Given the description of an element on the screen output the (x, y) to click on. 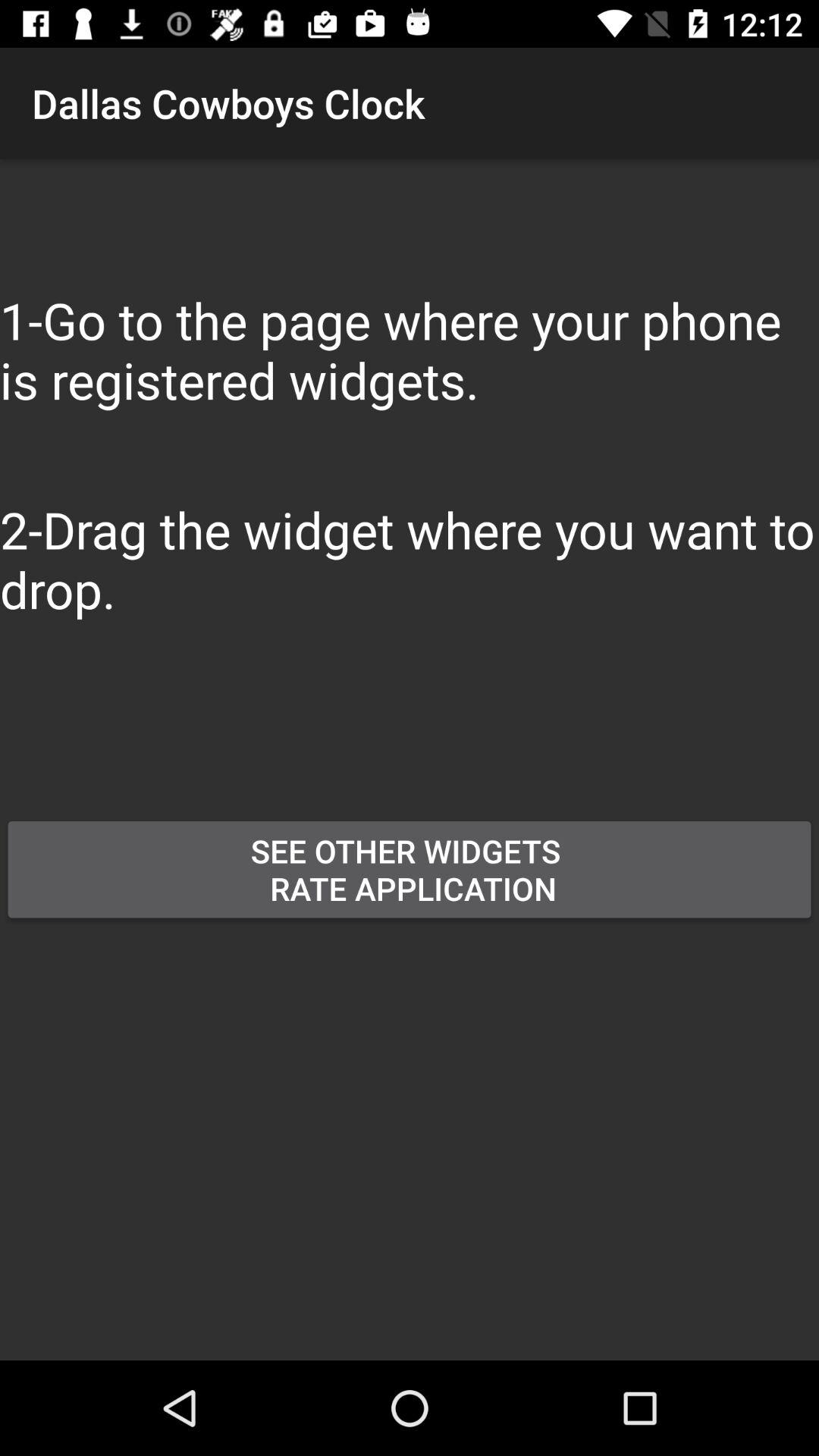
turn off button above the see other widgets button (318, 759)
